Given the description of an element on the screen output the (x, y) to click on. 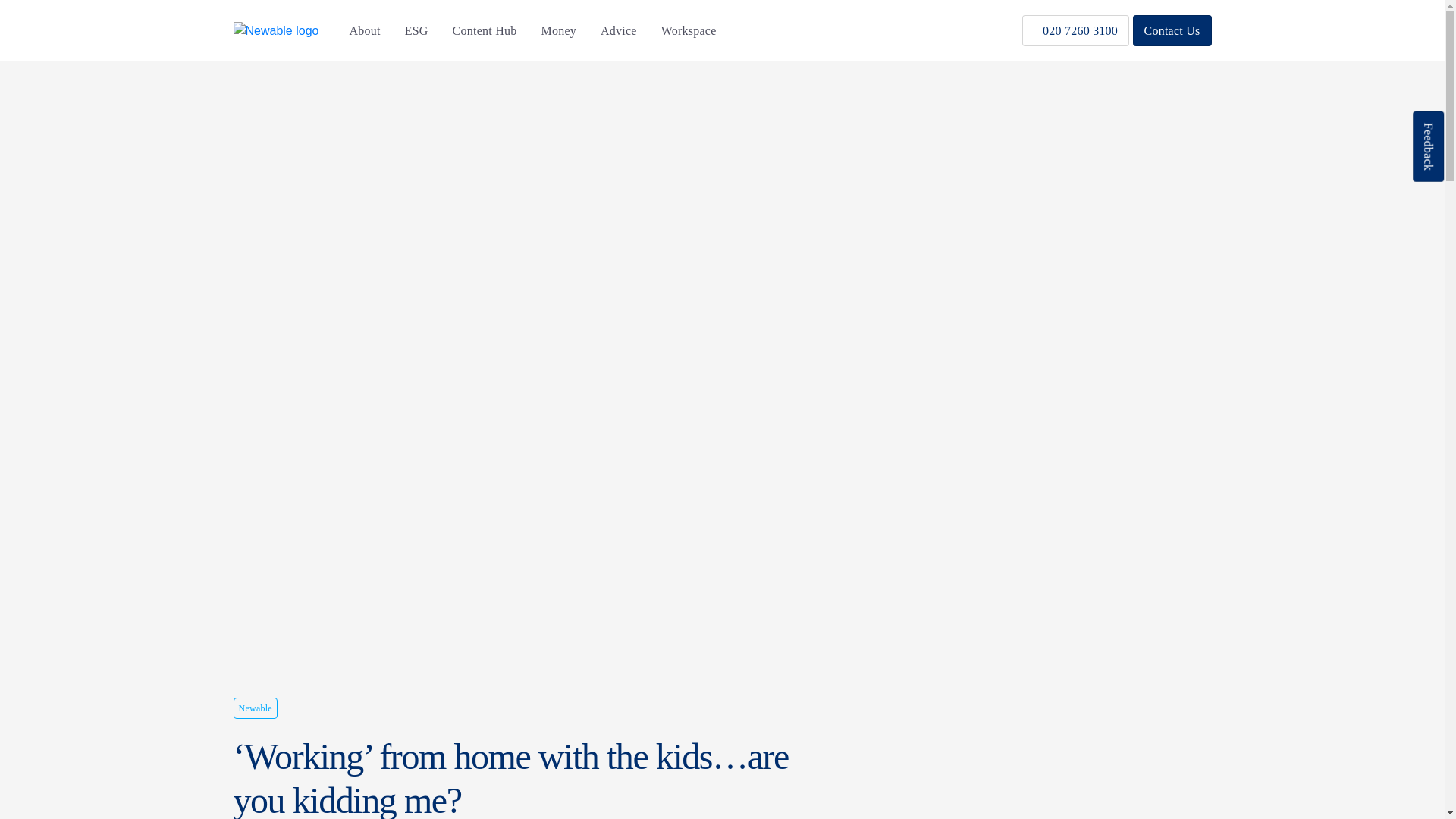
Content Hub (484, 30)
020 7260 3100 (1075, 30)
Advice (618, 30)
Workspace (688, 30)
About (364, 30)
ESG (416, 30)
Money (558, 30)
Contact Us (1171, 30)
Call 020 7260 3100 (1075, 30)
